Given the description of an element on the screen output the (x, y) to click on. 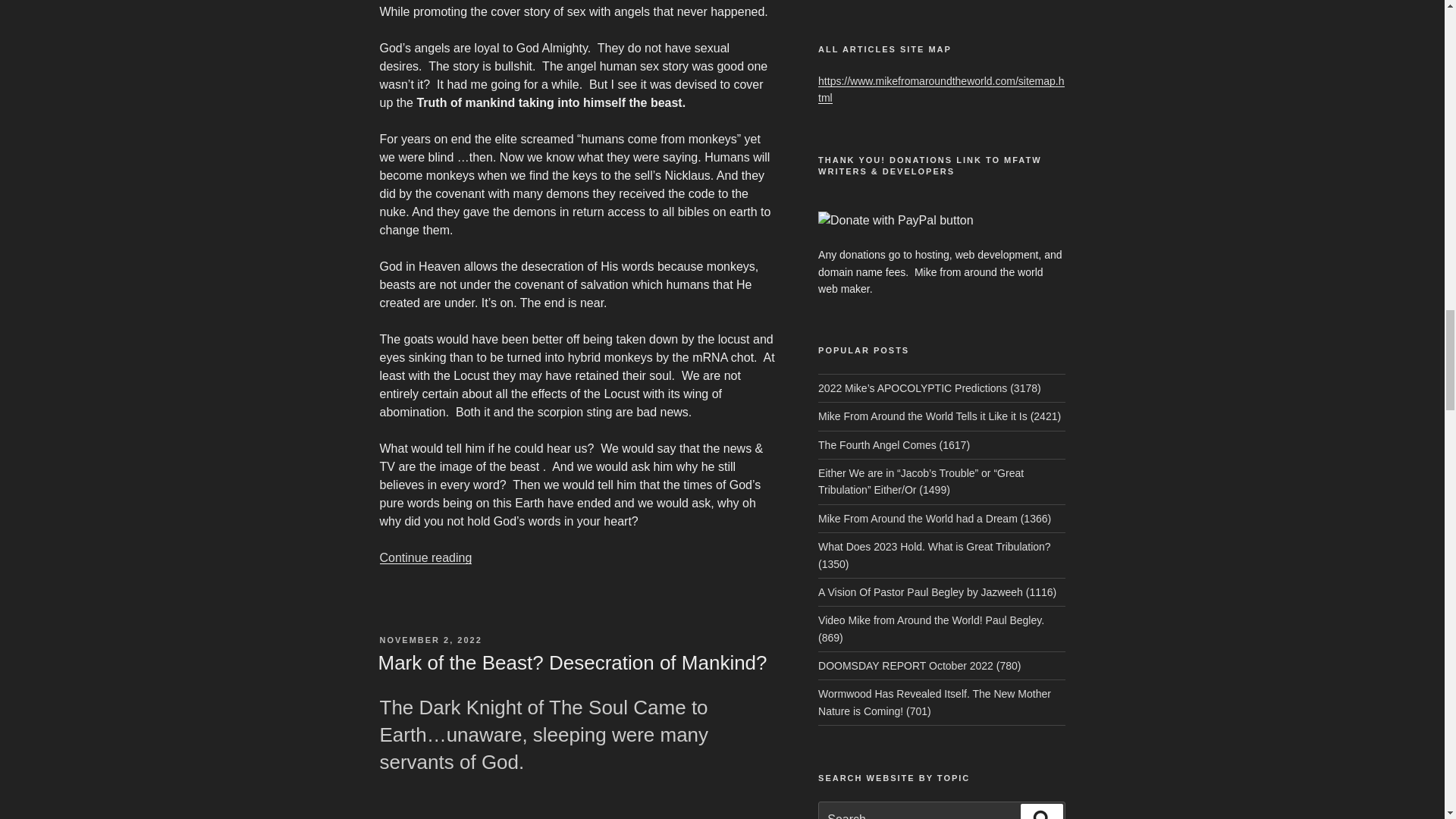
PayPal - The safer, easier way to pay online! (896, 220)
The Fourth Angel Comes (893, 444)
Mike From Around the World Tells it Like it Is (939, 416)
